Given the description of an element on the screen output the (x, y) to click on. 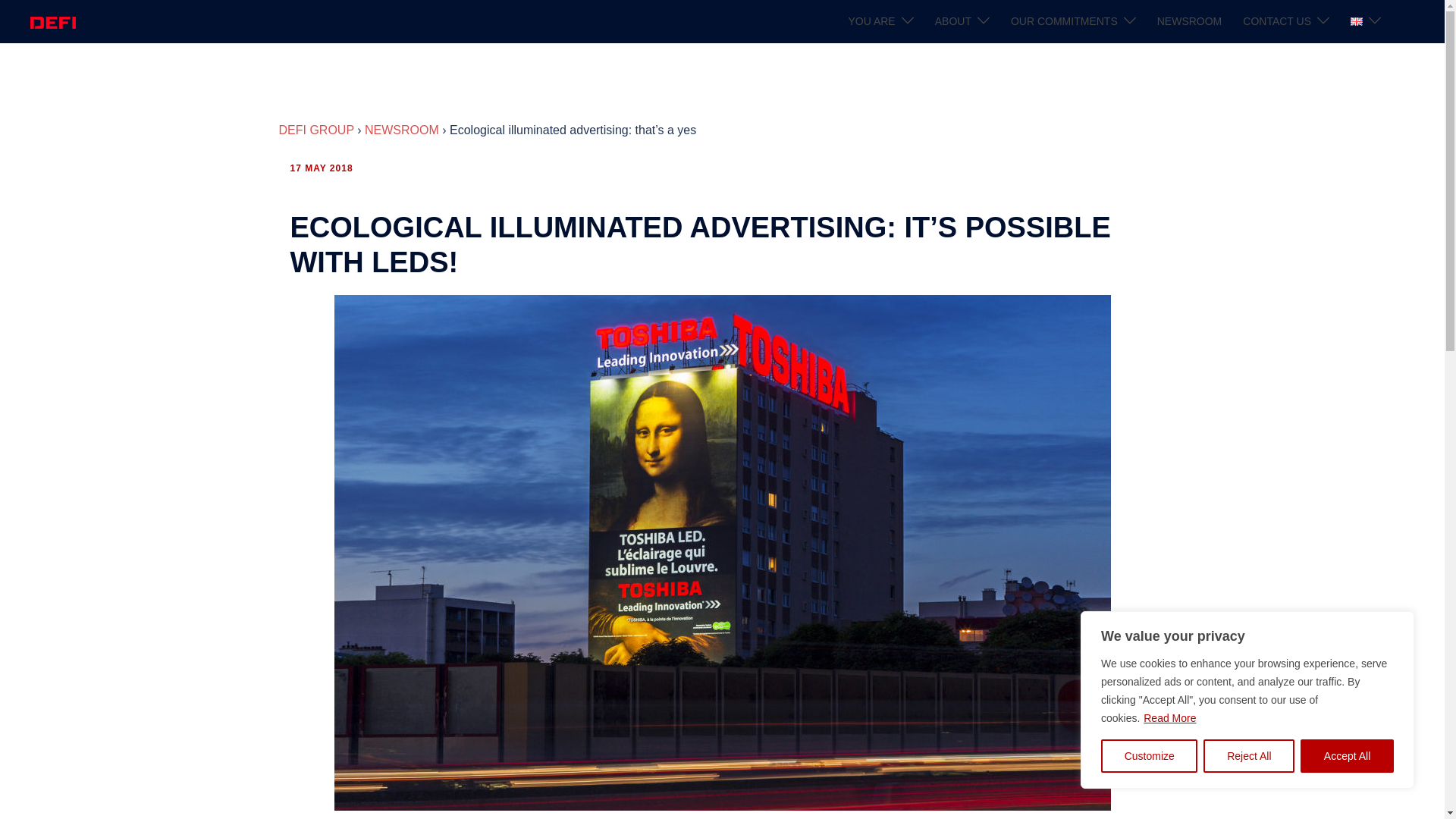
ABOUT (952, 22)
NEWSROOM (402, 129)
OUR COMMITMENTS (1064, 22)
NEWSROOM (1190, 22)
Customize (1148, 756)
DEFI Group (52, 21)
Accept All (1346, 756)
YOU ARE (871, 22)
CONTACT US (1277, 22)
Read More (1169, 717)
